Given the description of an element on the screen output the (x, y) to click on. 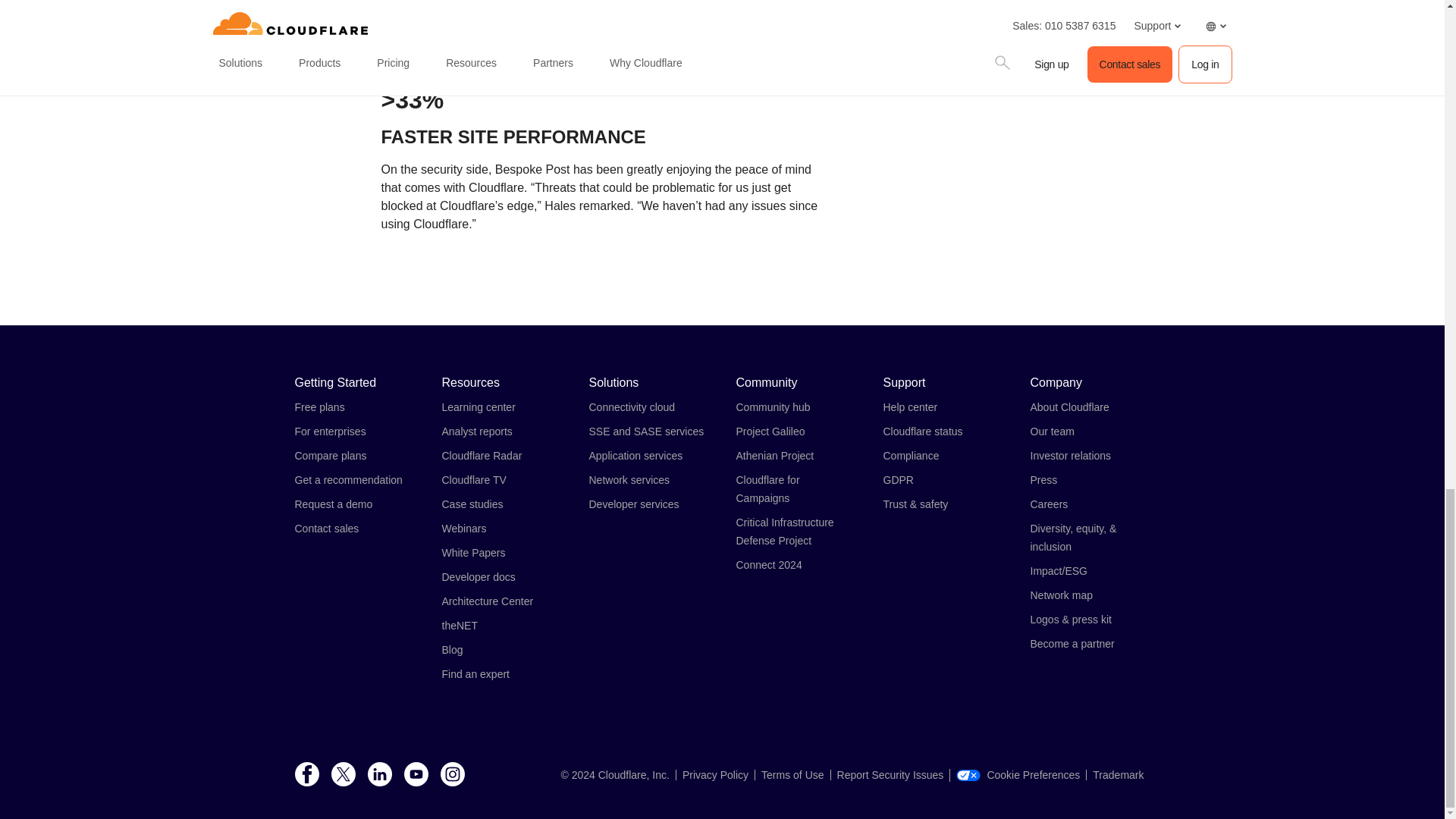
Instagram (451, 775)
LinkedIn (378, 775)
X (342, 775)
Youtube (415, 775)
Facebook (306, 775)
